Given the description of an element on the screen output the (x, y) to click on. 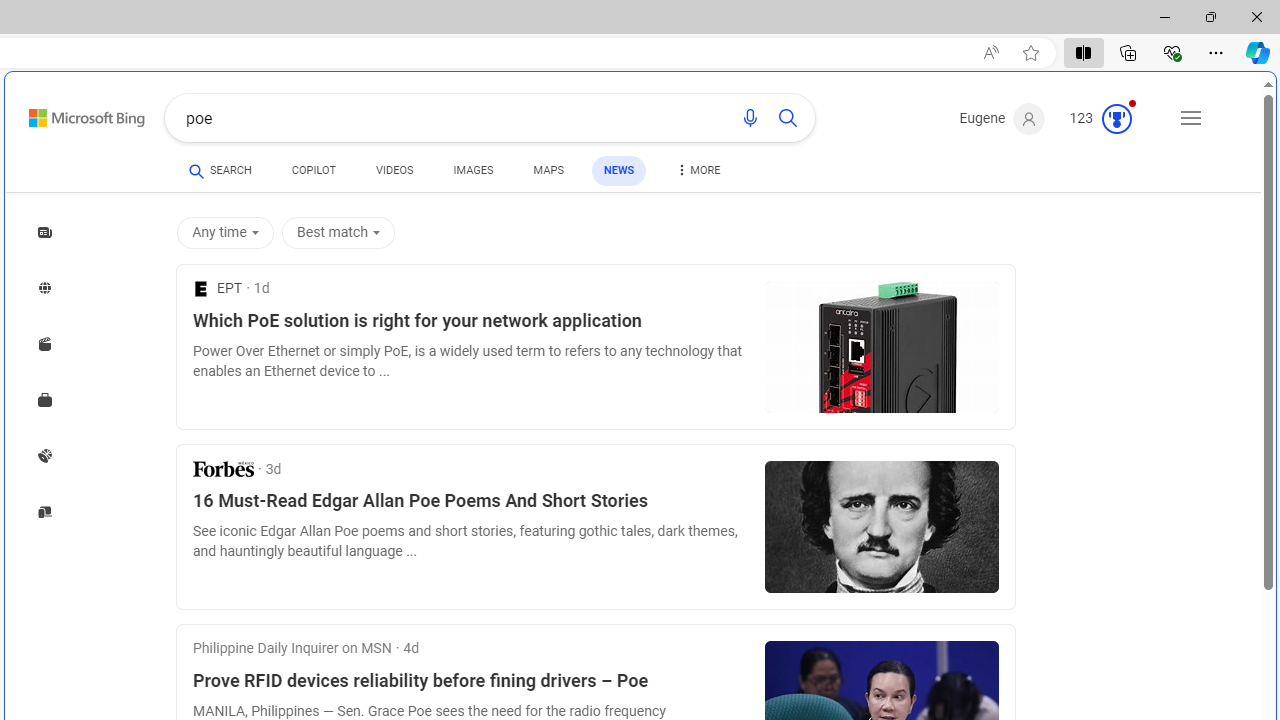
Search using voice (750, 117)
Any time (228, 232)
Best match (342, 232)
NEWS (618, 170)
MORE (697, 173)
Forbes (223, 468)
Back to Bing search (74, 113)
IMAGES (473, 170)
Best match (338, 232)
Search button (787, 117)
VIDEOS (394, 173)
